Given the description of an element on the screen output the (x, y) to click on. 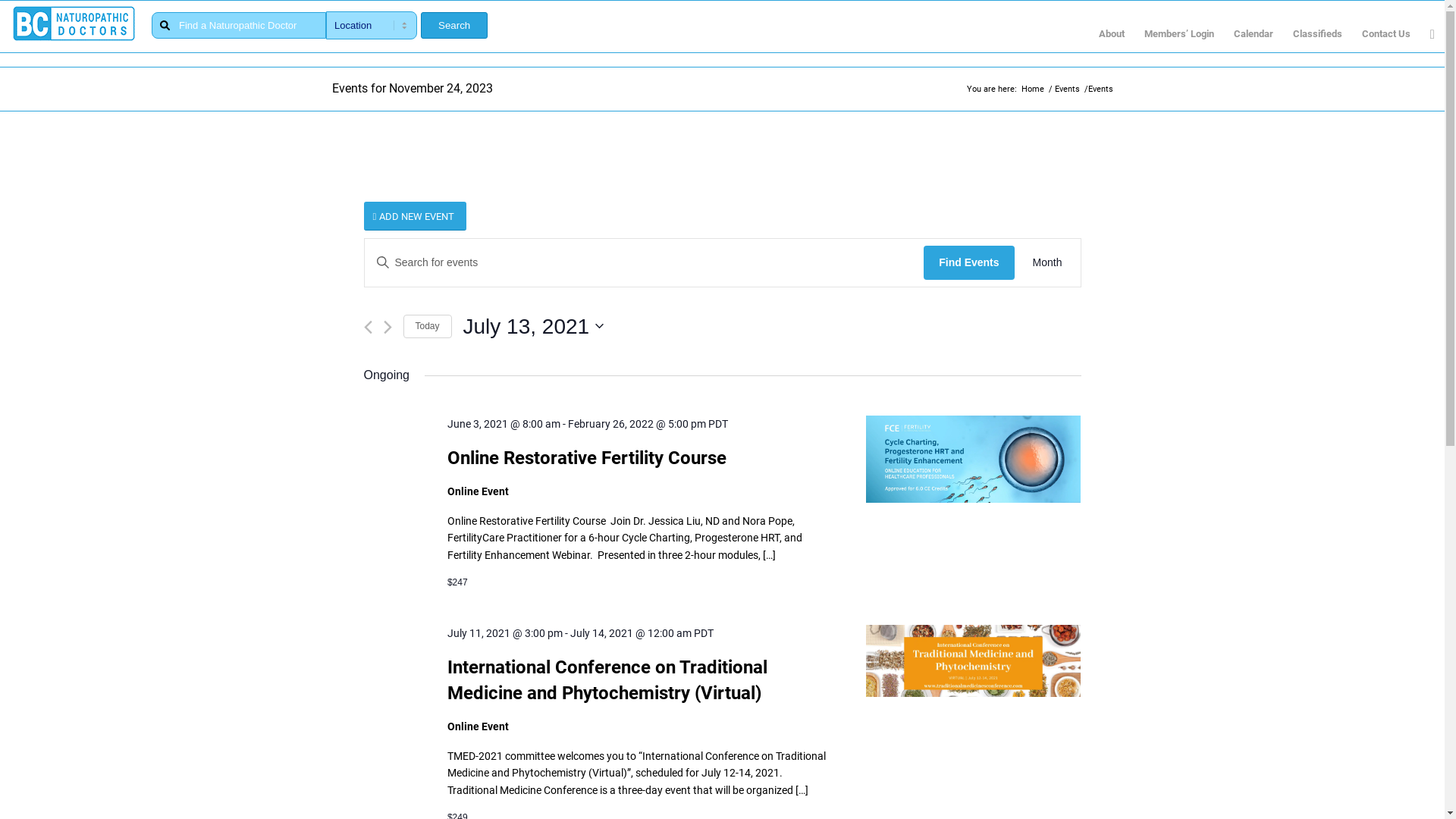
Month Element type: text (1047, 262)
Find Events Element type: text (968, 262)
Calendar Element type: text (1253, 33)
Home Element type: text (1032, 88)
Previous day Element type: hover (368, 327)
About Element type: text (1111, 33)
July 13, 2021 Element type: text (533, 325)
Contact Us Element type: text (1386, 33)
Search Element type: text (453, 25)
Next day Element type: hover (387, 327)
International Conference on Traditional Medicine Element type: hover (973, 660)
Online Restorative Fertility Course Element type: hover (973, 461)
Today Element type: text (427, 326)
Online Restorative Fertility Course Element type: text (586, 458)
Classifieds Element type: text (1317, 33)
ADD NEW EVENT Element type: text (415, 216)
IMG_2096 (4) Element type: hover (973, 458)
Events Element type: text (1067, 88)
